Given the description of an element on the screen output the (x, y) to click on. 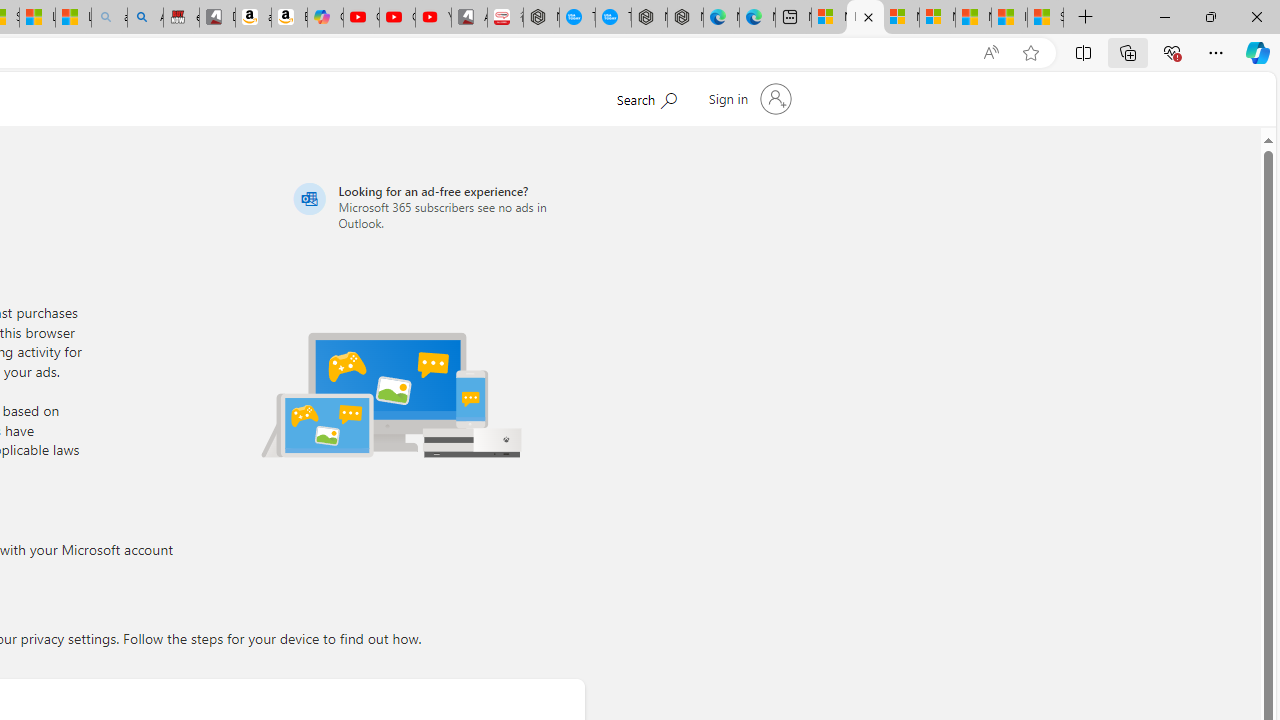
Illustration of multiple devices (391, 394)
YouTube Kids - An App Created for Kids to Explore Content (433, 17)
Sign in to your account (748, 98)
